Given the description of an element on the screen output the (x, y) to click on. 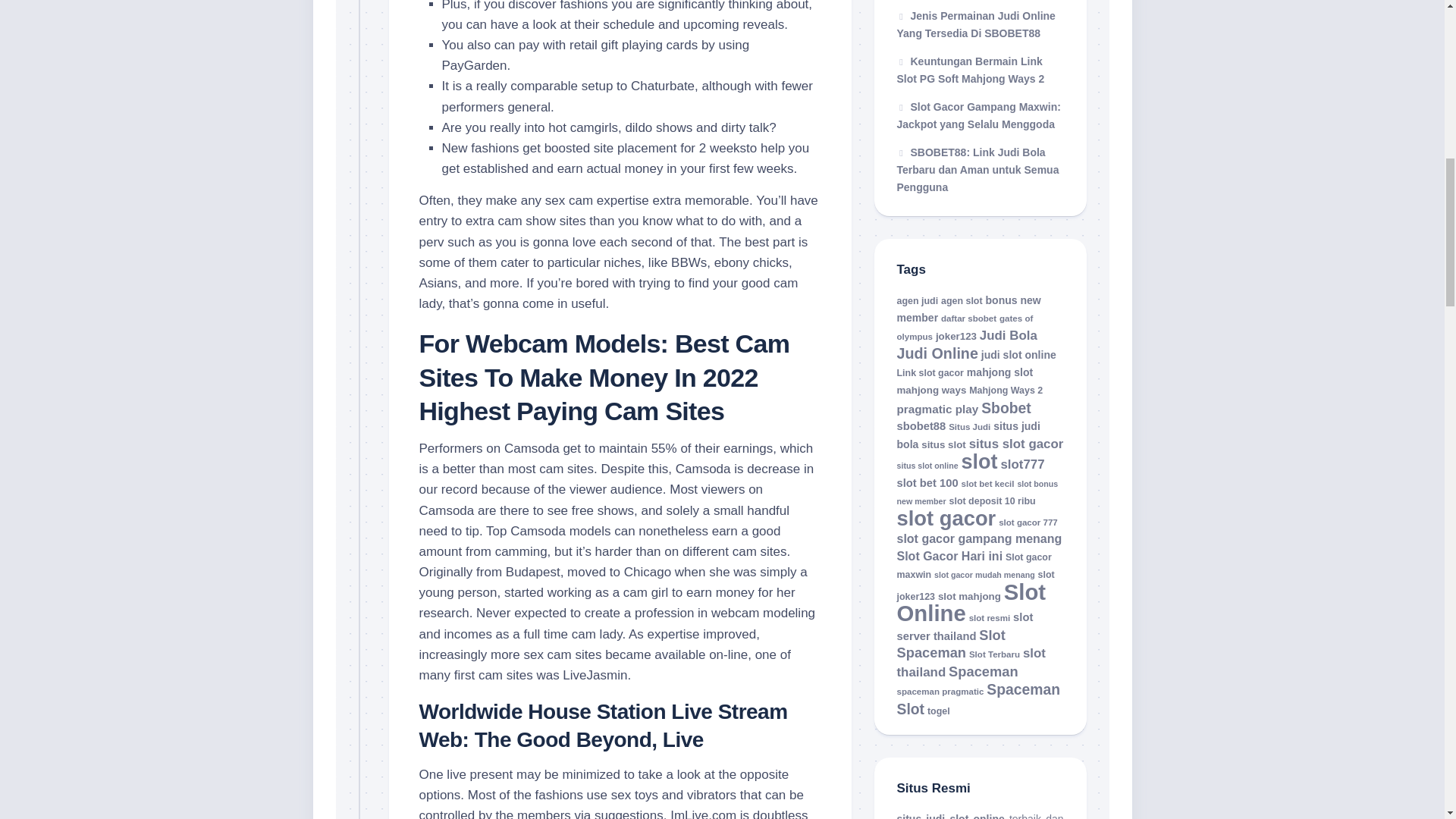
agen judi (916, 300)
Jenis Permainan Judi Online Yang Tersedia Di SBOBET88 (975, 24)
Judi Bola (1007, 334)
joker123 (956, 336)
bonus new member (968, 309)
Keuntungan Bermain Link Slot PG Soft Mahjong Ways 2 (969, 69)
daftar sbobet (967, 317)
agen slot (961, 300)
Slot Gacor Gampang Maxwin: Jackpot yang Selalu Menggoda (977, 114)
gates of olympus (964, 327)
